Given the description of an element on the screen output the (x, y) to click on. 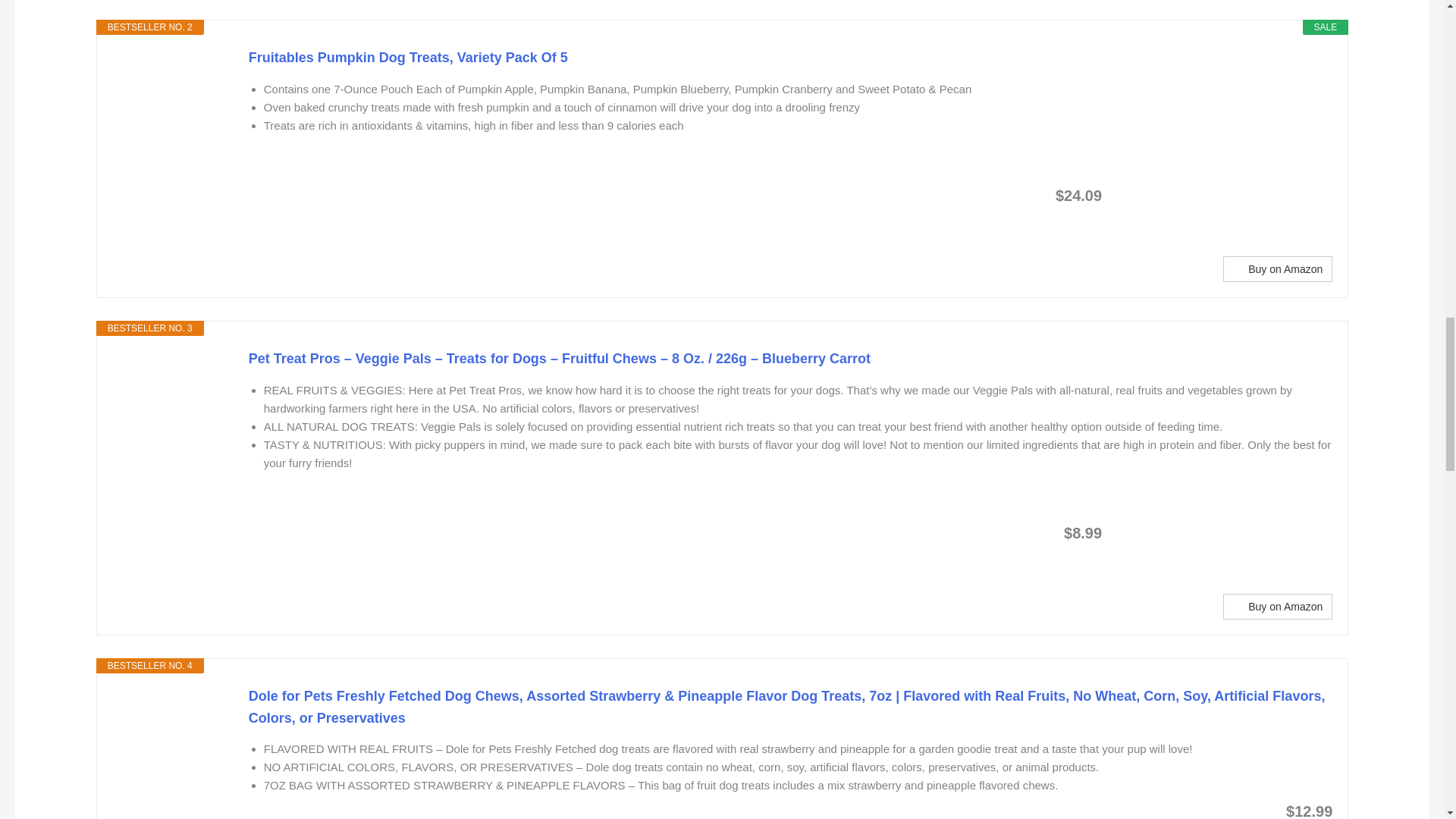
Fruitables Pumpkin Dog Treats, Variety Pack Of 5 (790, 57)
Amazon Prime (1218, 194)
Buy on Amazon (1277, 606)
Amazon Prime (1218, 531)
Buy on Amazon (1277, 268)
Fruitables Pumpkin Dog Treats, Variety Pack Of 5 (172, 103)
